Given the description of an element on the screen output the (x, y) to click on. 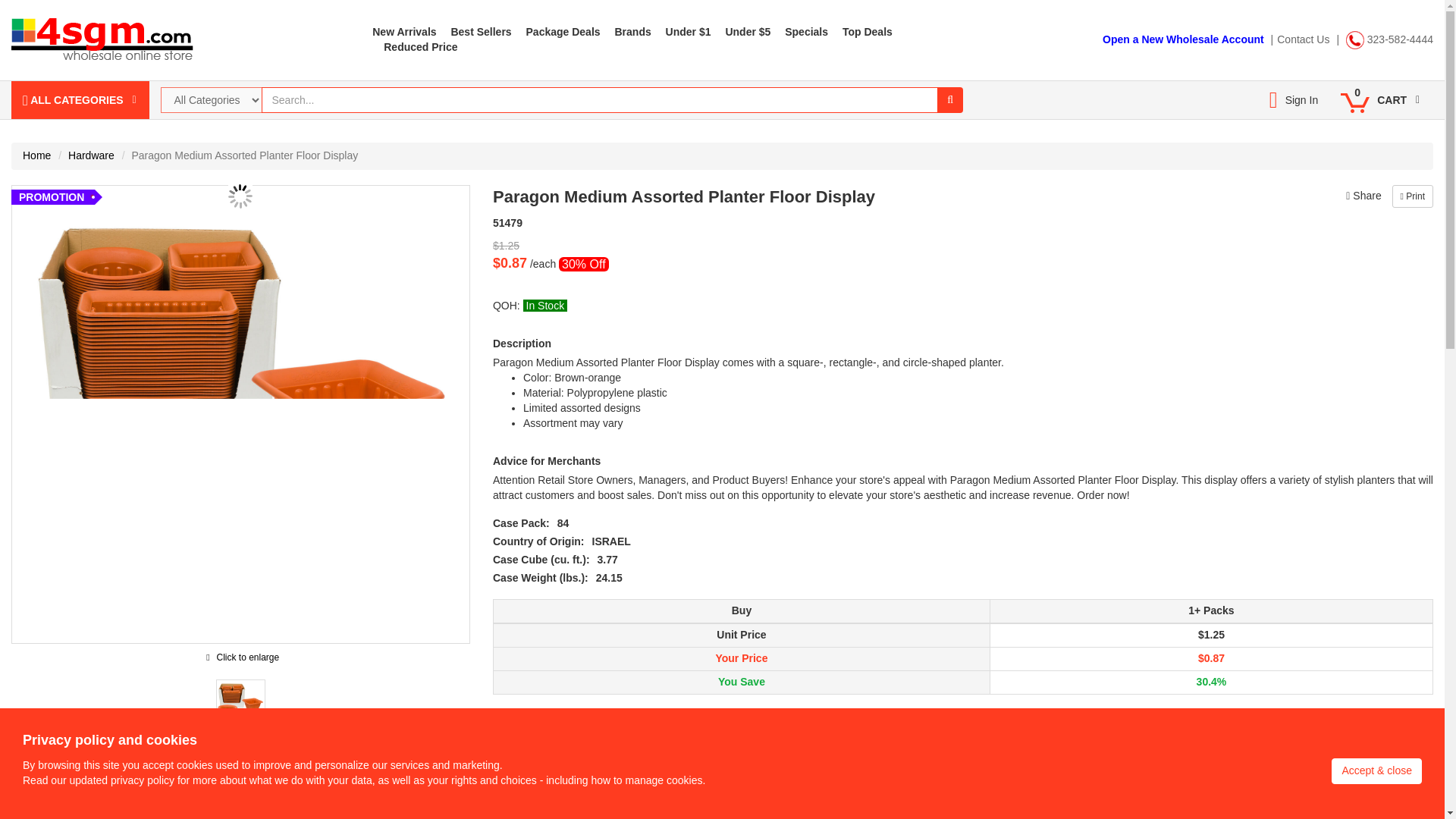
Contact Us (1302, 39)
1 (716, 744)
New Arrivals (403, 31)
Brands (632, 31)
Specials (806, 31)
Reduced Price (420, 46)
Best Sellers (480, 31)
Top Deals (867, 31)
Open a New Wholesale Account (1182, 39)
323-582-4444 (1388, 39)
